Given the description of an element on the screen output the (x, y) to click on. 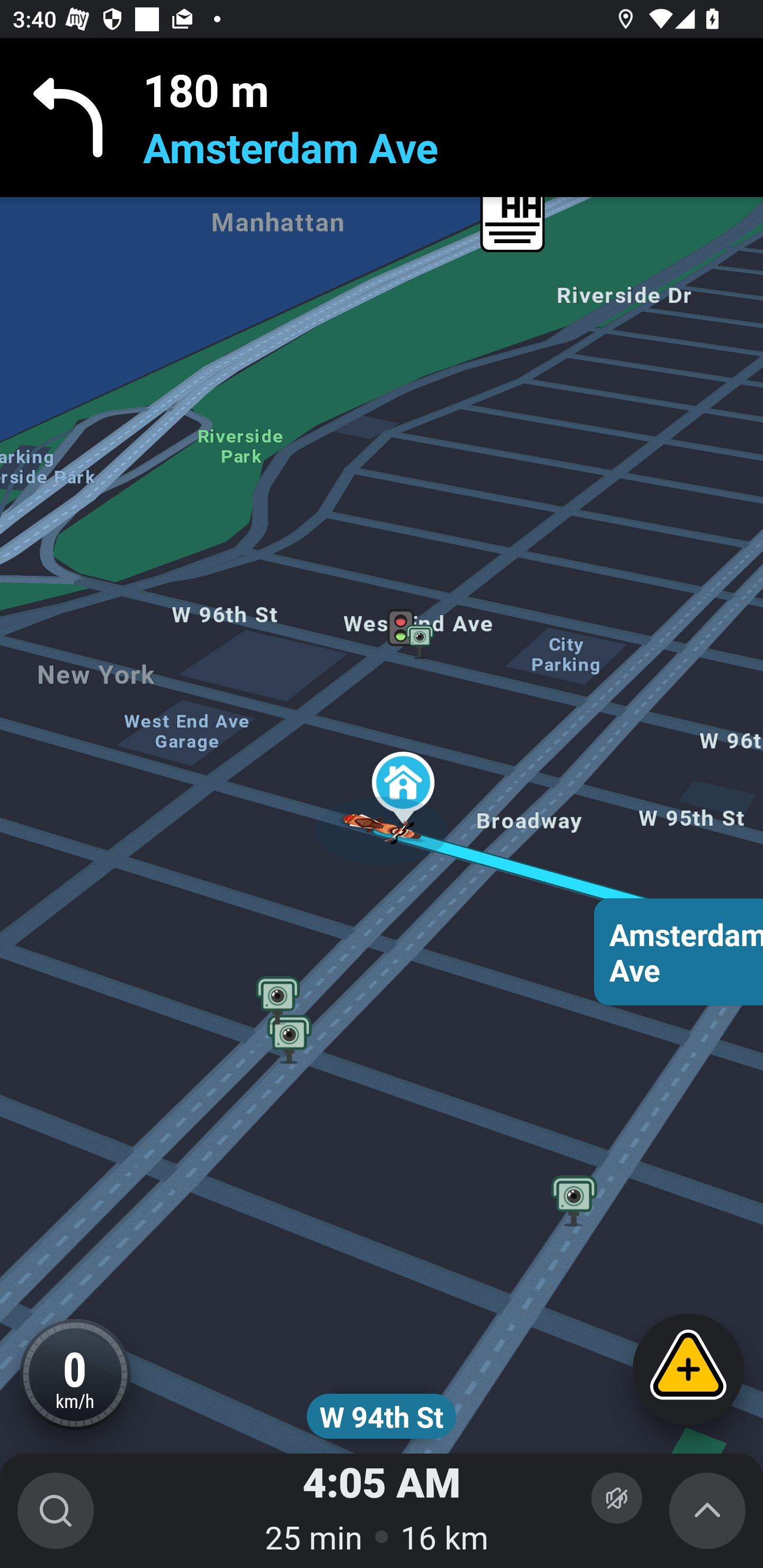
180 m Amsterdam Ave (381, 117)
4:05 AM 25 min 16 km (381, 1510)
